Given the description of an element on the screen output the (x, y) to click on. 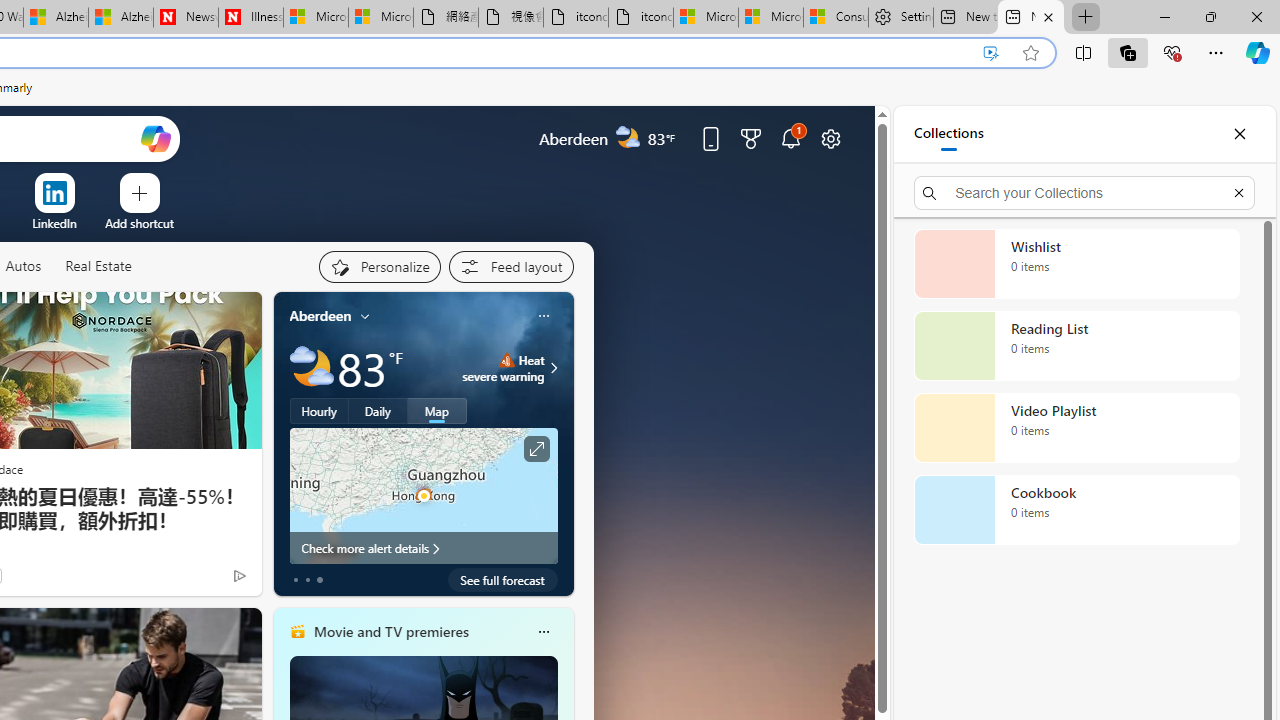
Video Playlist collection, 0 items (1076, 427)
tab-0 (295, 579)
Larger map  (423, 495)
Search your Collections (1084, 192)
Real Estate (97, 267)
Feed settings (510, 266)
Hourly (319, 411)
